Given the description of an element on the screen output the (x, y) to click on. 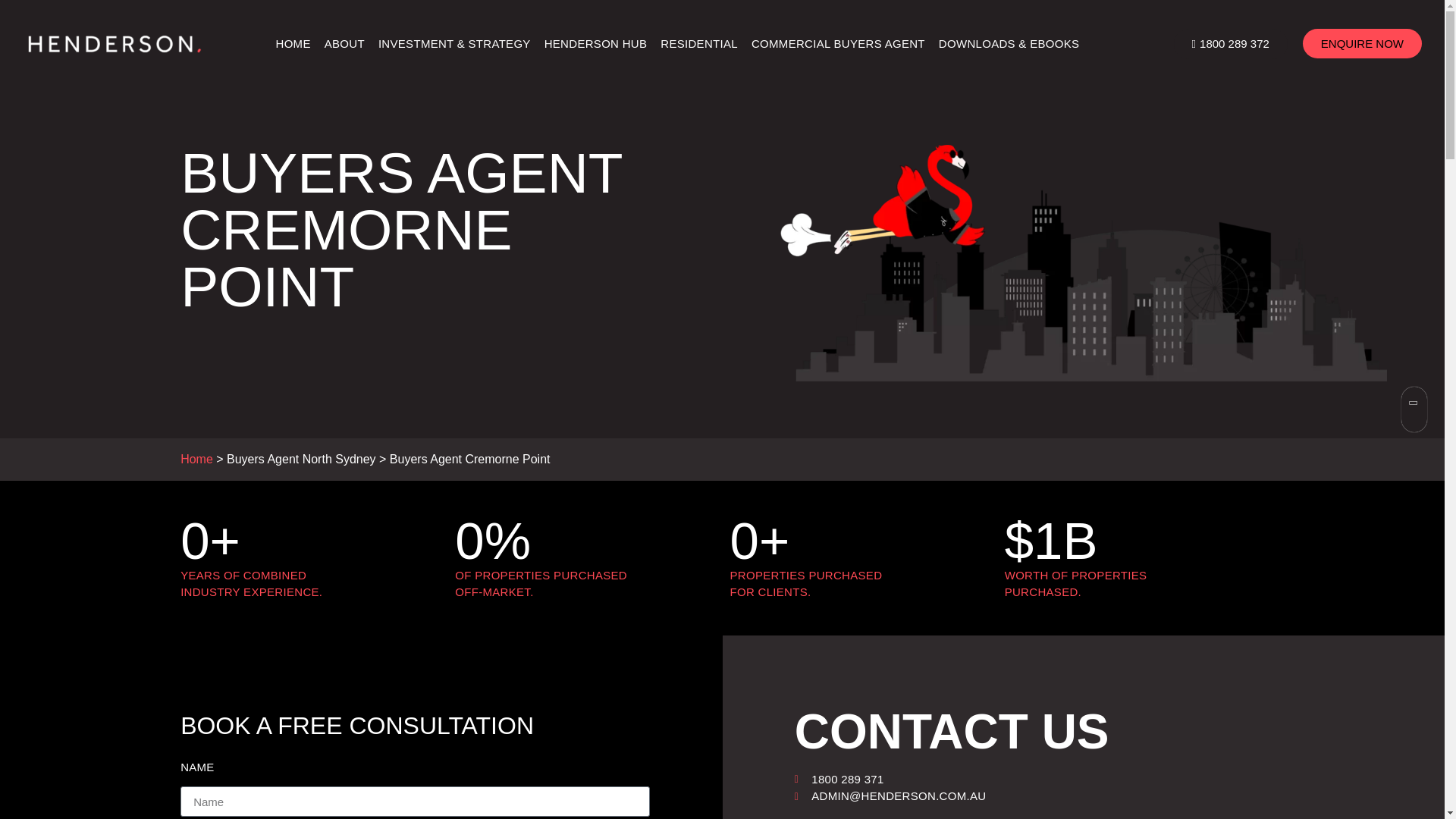
COMMERCIAL BUYERS AGENT (837, 43)
1800 289 372 (1230, 43)
ABOUT (344, 43)
HENDERSON HUB (595, 43)
Home (196, 459)
HOME (293, 43)
ENQUIRE NOW (1362, 43)
RESIDENTIAL (698, 43)
1800 289 371 (1028, 779)
